Given the description of an element on the screen output the (x, y) to click on. 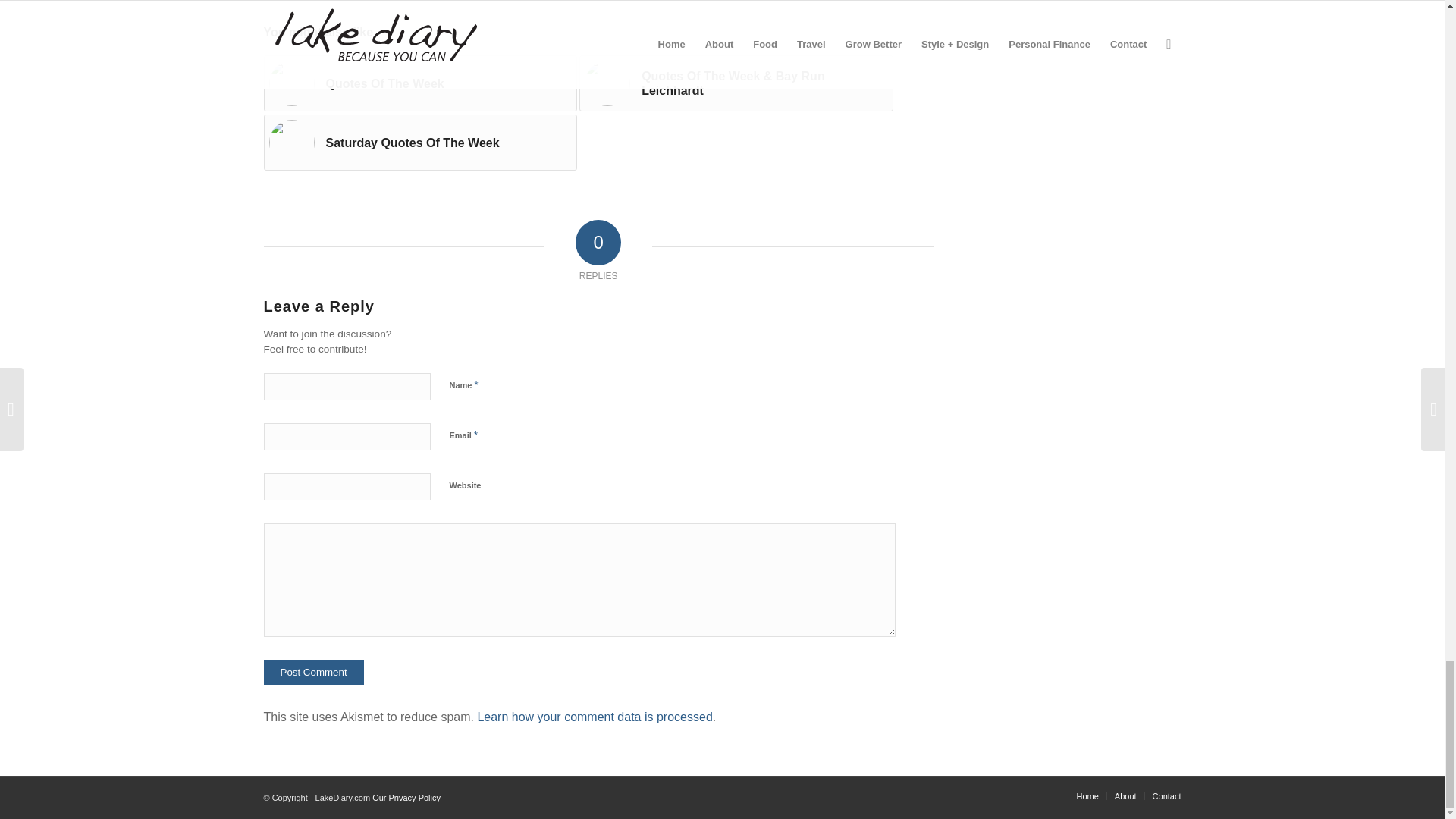
Post Comment (313, 672)
